Given the description of an element on the screen output the (x, y) to click on. 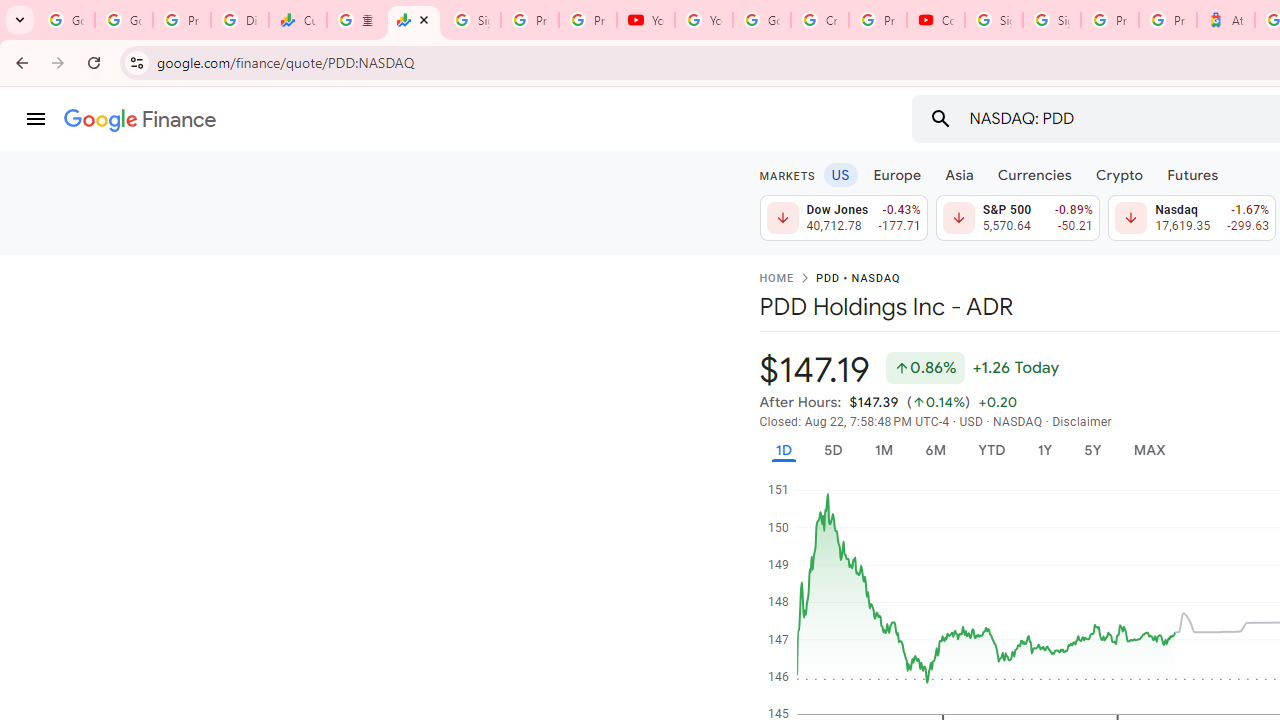
Currencies (1034, 174)
S&P 500 5,570.64 Down by 0.89% -50.21 (1017, 218)
Sign in - Google Accounts (1051, 20)
Create your Google Account (819, 20)
Main menu (35, 119)
US (840, 174)
